Given the description of an element on the screen output the (x, y) to click on. 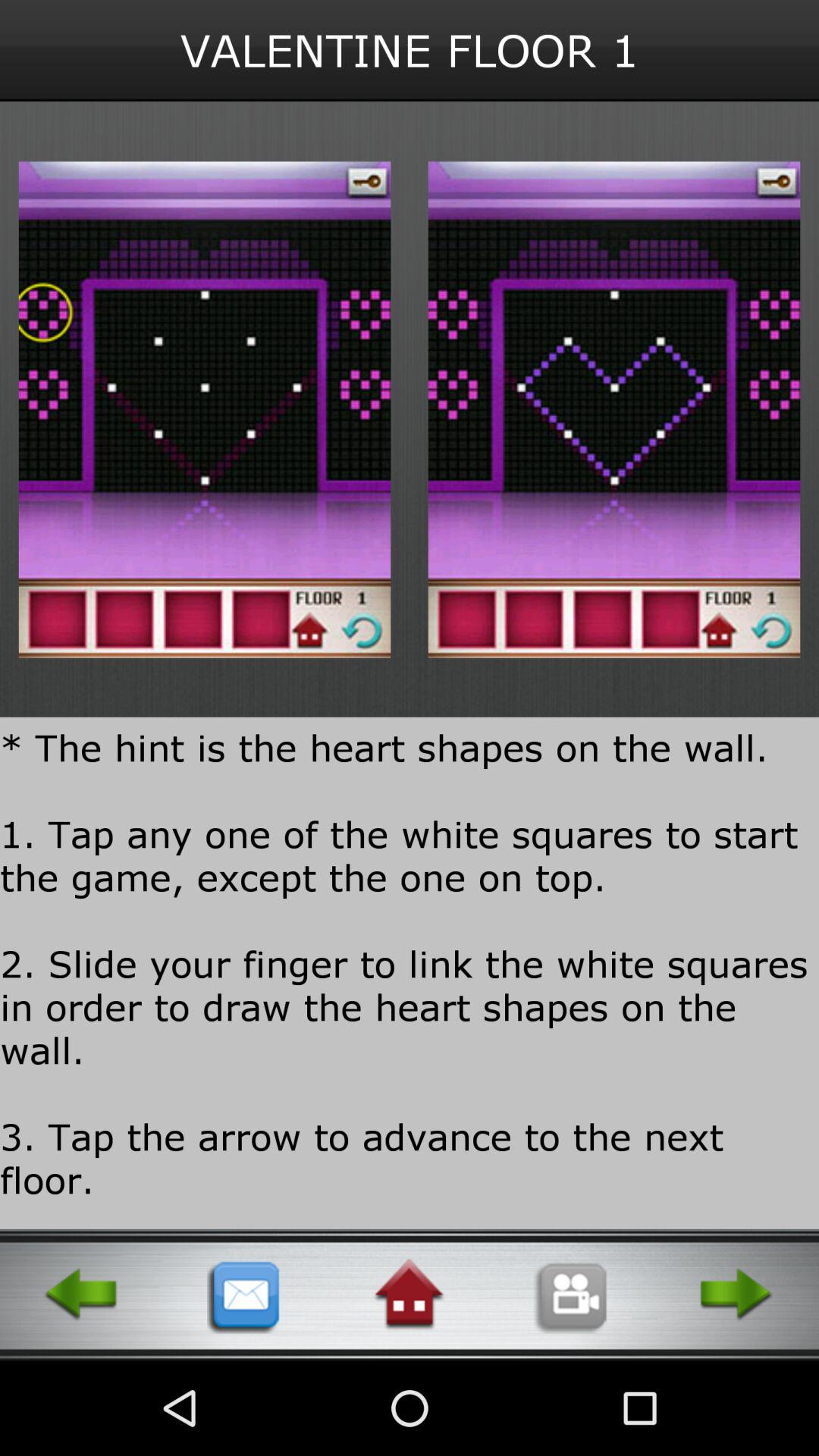
next (736, 1294)
